Given the description of an element on the screen output the (x, y) to click on. 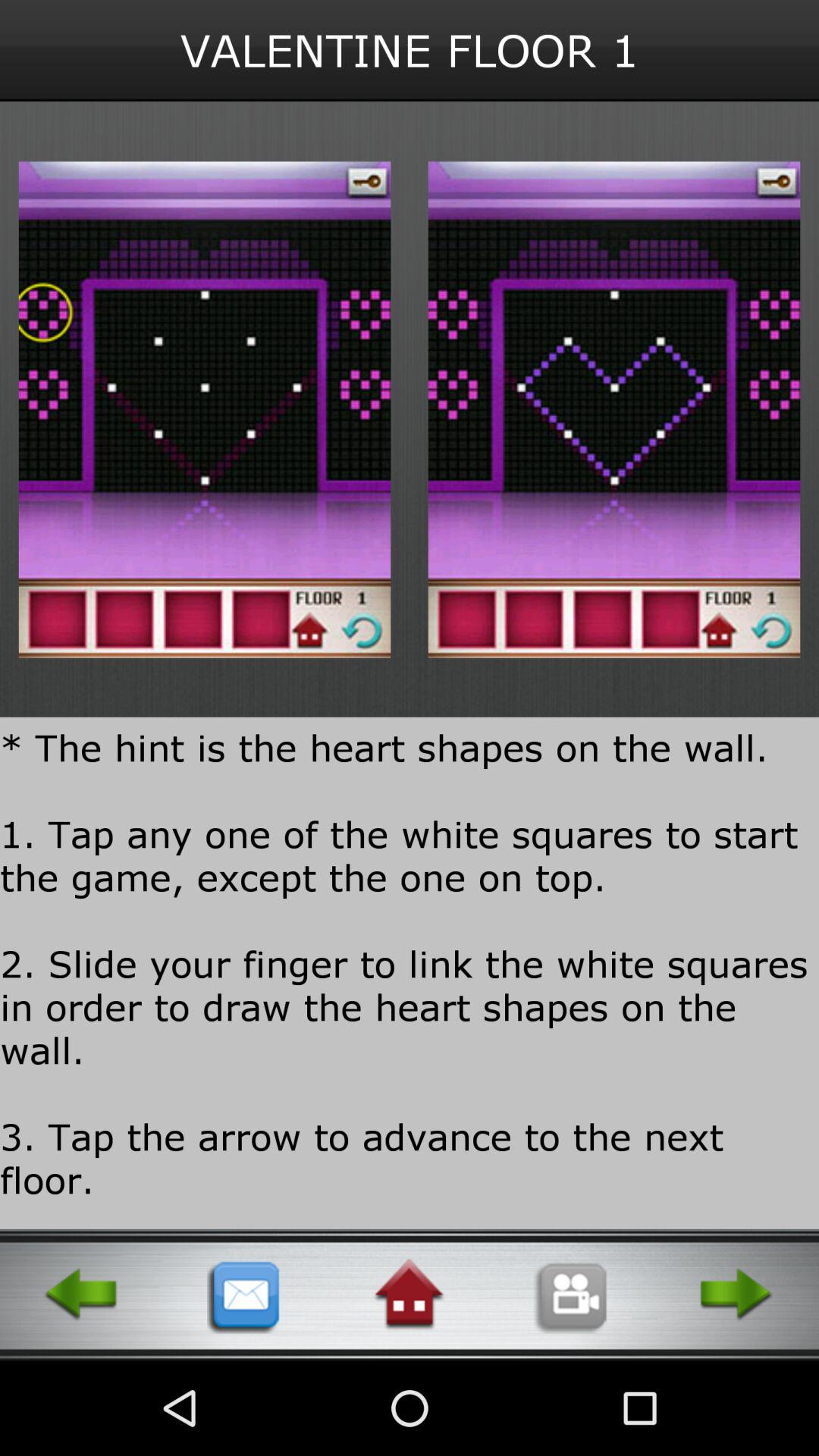
next (736, 1294)
